Given the description of an element on the screen output the (x, y) to click on. 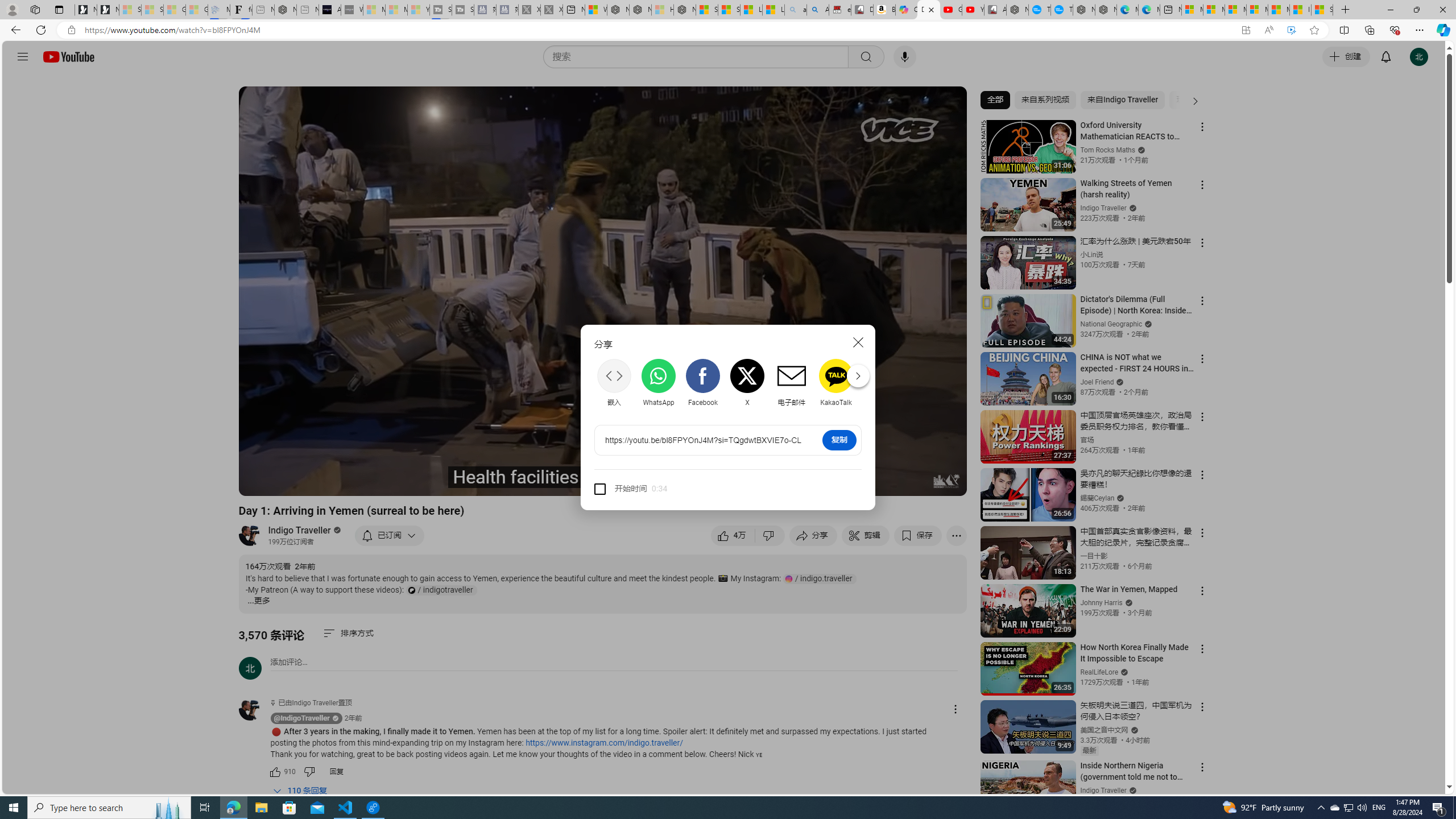
WhatsApp (658, 383)
Copilot (907, 9)
Reddit (879, 383)
Microsoft Start - Sleeping (396, 9)
All Cubot phones (995, 9)
AutomationID: simplebox-placeholder (288, 662)
Facebook (702, 383)
